Given the description of an element on the screen output the (x, y) to click on. 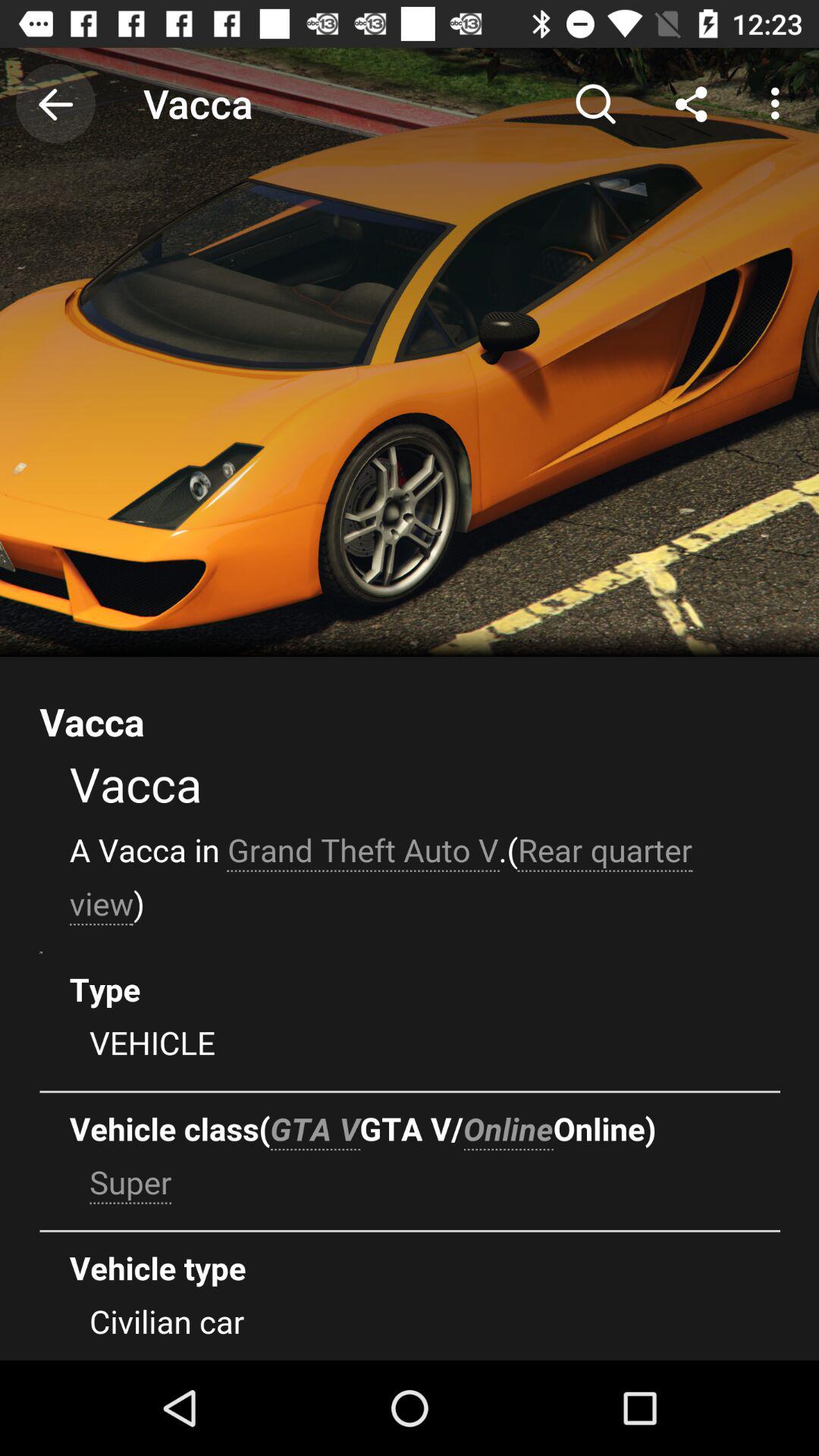
go back (55, 103)
